Given the description of an element on the screen output the (x, y) to click on. 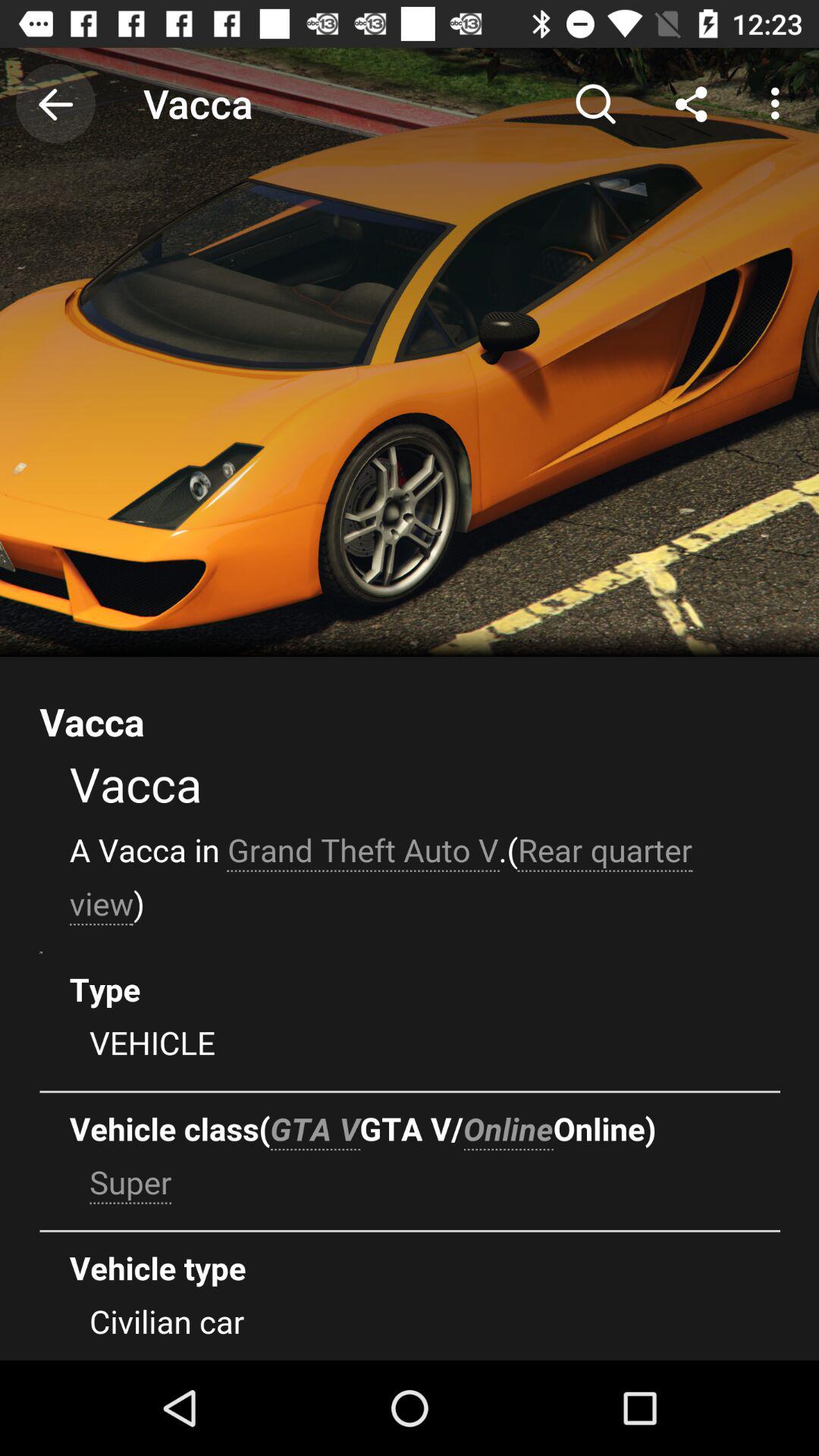
go back (55, 103)
